Given the description of an element on the screen output the (x, y) to click on. 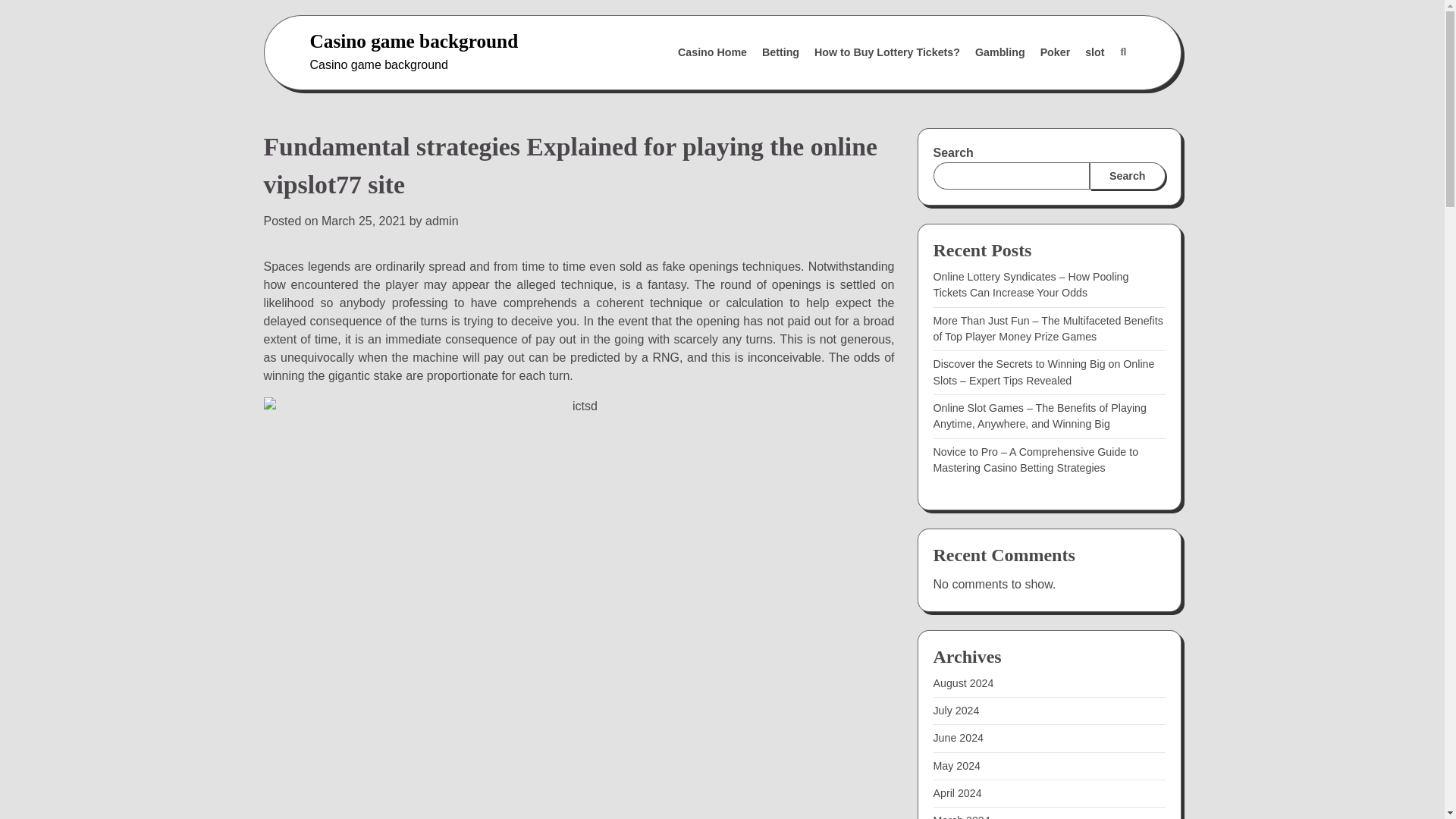
March 25, 2021 (363, 220)
May 2024 (956, 766)
April 2024 (957, 793)
Casino Home (711, 51)
Casino game background (413, 40)
Poker (1055, 51)
June 2024 (958, 737)
How to Buy Lottery Tickets? (887, 51)
slot (1094, 51)
March 2024 (961, 816)
admin (441, 220)
July 2024 (955, 710)
Betting (780, 51)
Gambling (1000, 51)
Search (1086, 88)
